Given the description of an element on the screen output the (x, y) to click on. 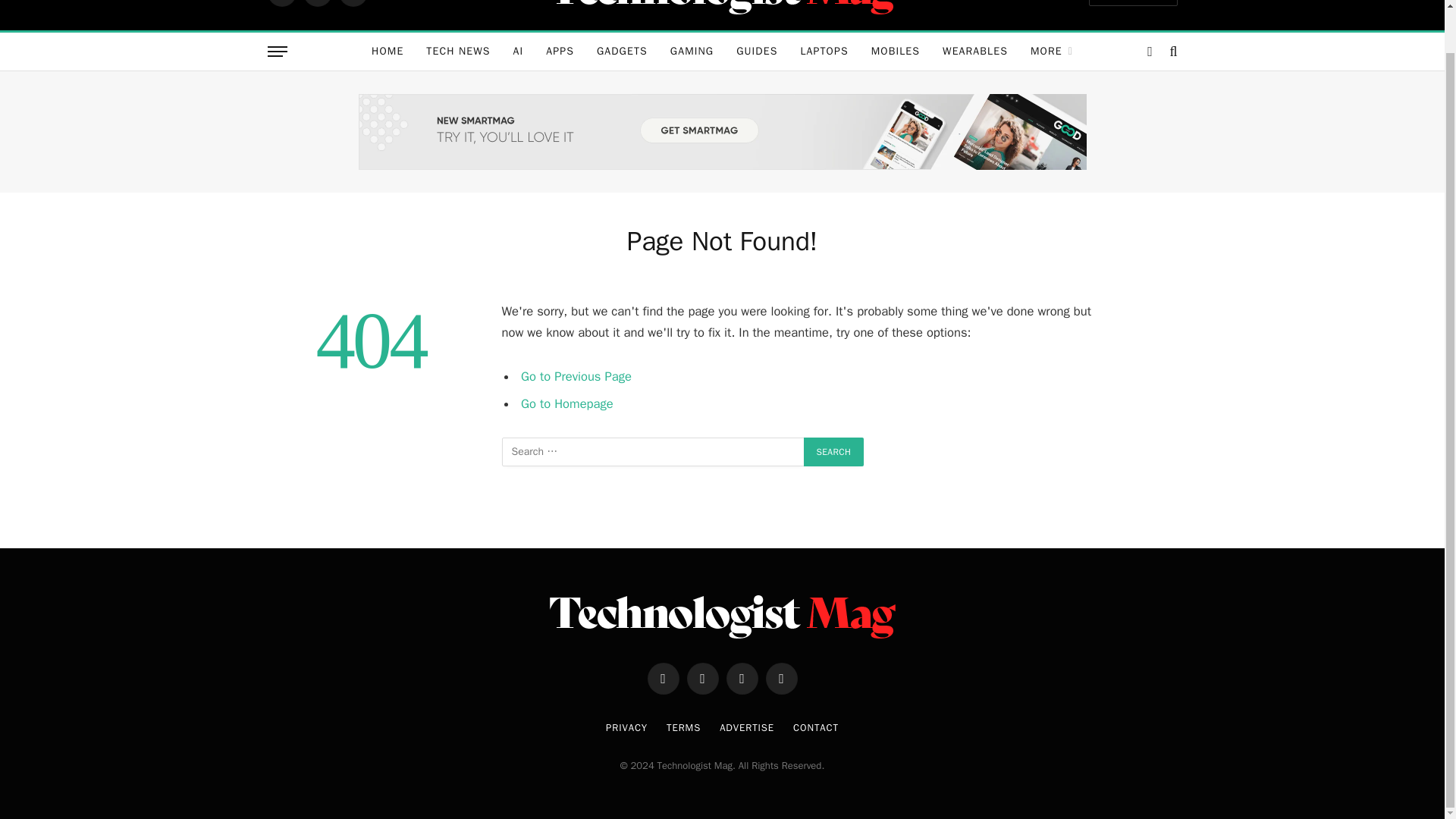
Search (833, 451)
Instagram (351, 3)
Technologist Mag (722, 11)
Facebook (280, 3)
HOME (386, 51)
Search (833, 451)
SUBSCRIBE (1132, 2)
APPS (559, 51)
Switch to Dark Design - easier on eyes. (1149, 51)
TECH NEWS (457, 51)
